Given the description of an element on the screen output the (x, y) to click on. 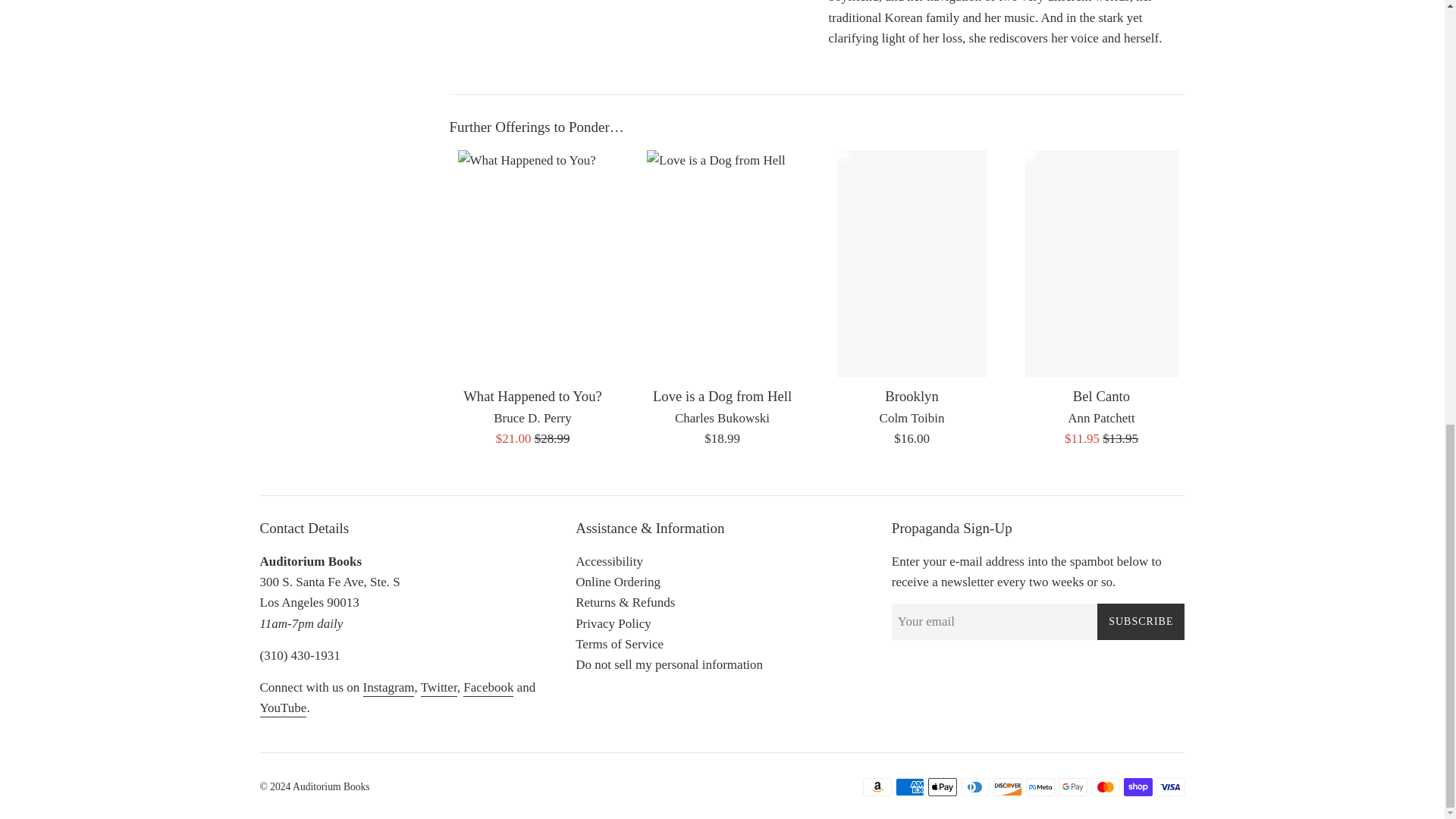
Visa (1170, 787)
Meta Pay (1039, 787)
Google Pay (1072, 787)
Bel Canto (1101, 396)
What Happened to You? (532, 396)
Facebook (488, 688)
Brooklyn (912, 396)
Auditorium Books Twitter (438, 688)
American Express (909, 787)
Instagram (387, 688)
